Given the description of an element on the screen output the (x, y) to click on. 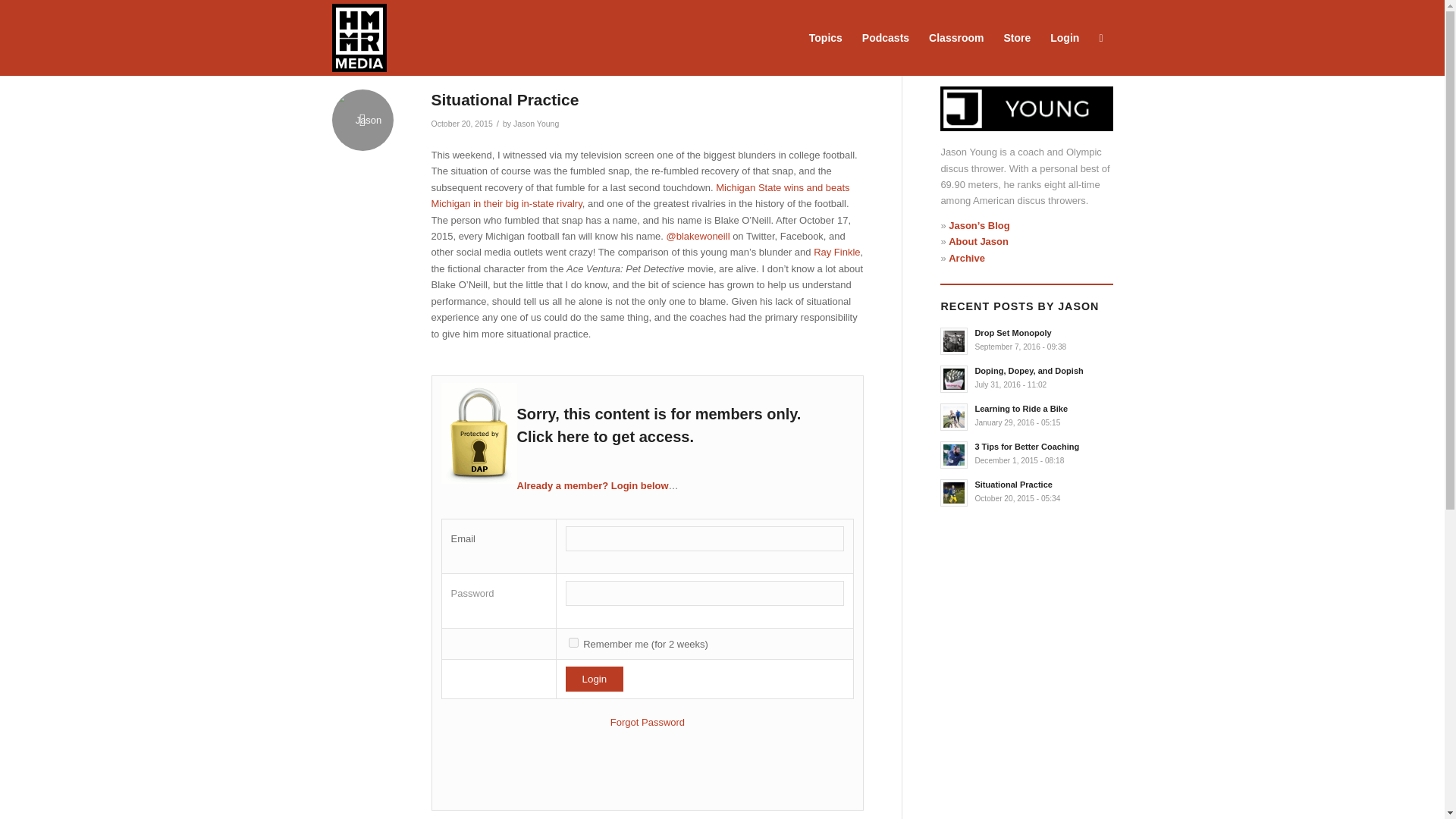
Classroom (955, 38)
Read: Doping, Dopey, and Dopish (1028, 370)
Login (595, 678)
Posts by Jason Young (536, 122)
Jason Young (536, 122)
Ray Finkle (836, 251)
rememberMe (573, 642)
Forgot Password (647, 722)
Read: Drop Set Monopoly (954, 340)
Read: Doping, Dopey, and Dopish (954, 379)
Click here to get access. (605, 436)
Read: Learning to Ride a Bike (954, 416)
Read: 3 Tips for Better Coaching (954, 454)
Read: Learning to Ride a Bike (1020, 408)
